Given the description of an element on the screen output the (x, y) to click on. 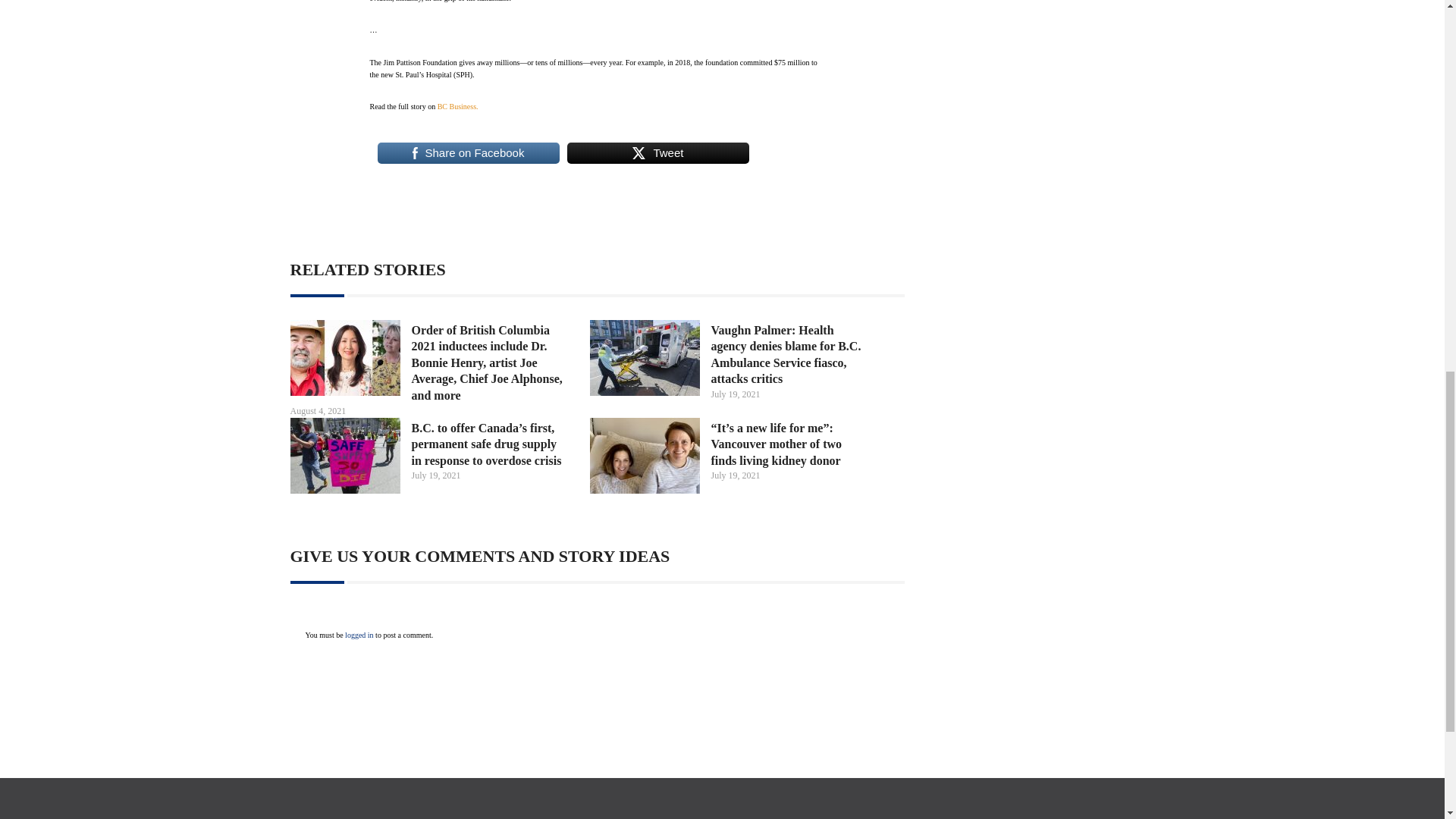
BC Business. (458, 106)
Share on Facebook (468, 152)
logged in (359, 634)
Tweet (658, 152)
